Given the description of an element on the screen output the (x, y) to click on. 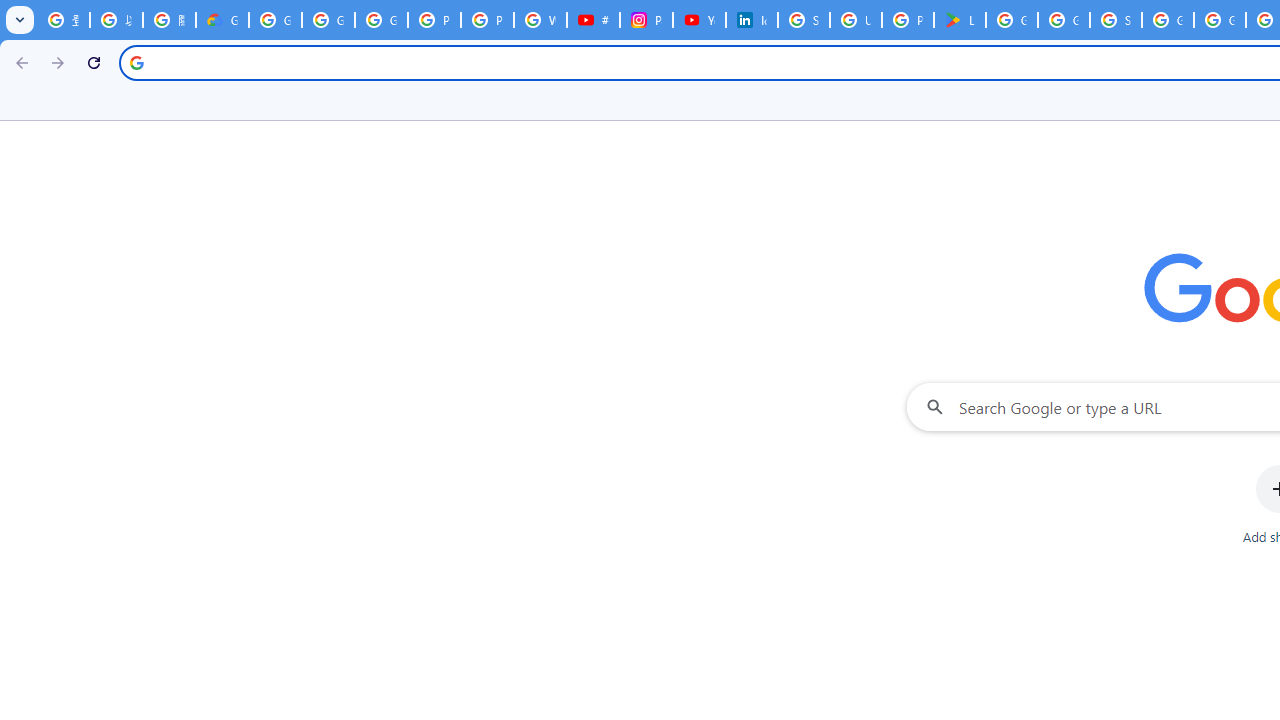
Sign in - Google Accounts (803, 20)
#nbabasketballhighlights - YouTube (593, 20)
YouTube Culture & Trends - On The Rise: Handcam Videos (699, 20)
Forward (57, 62)
System (10, 11)
Identity verification via Persona | LinkedIn Help (751, 20)
Sign in - Google Accounts (1115, 20)
Privacy Help Center - Policies Help (487, 20)
